Given the description of an element on the screen output the (x, y) to click on. 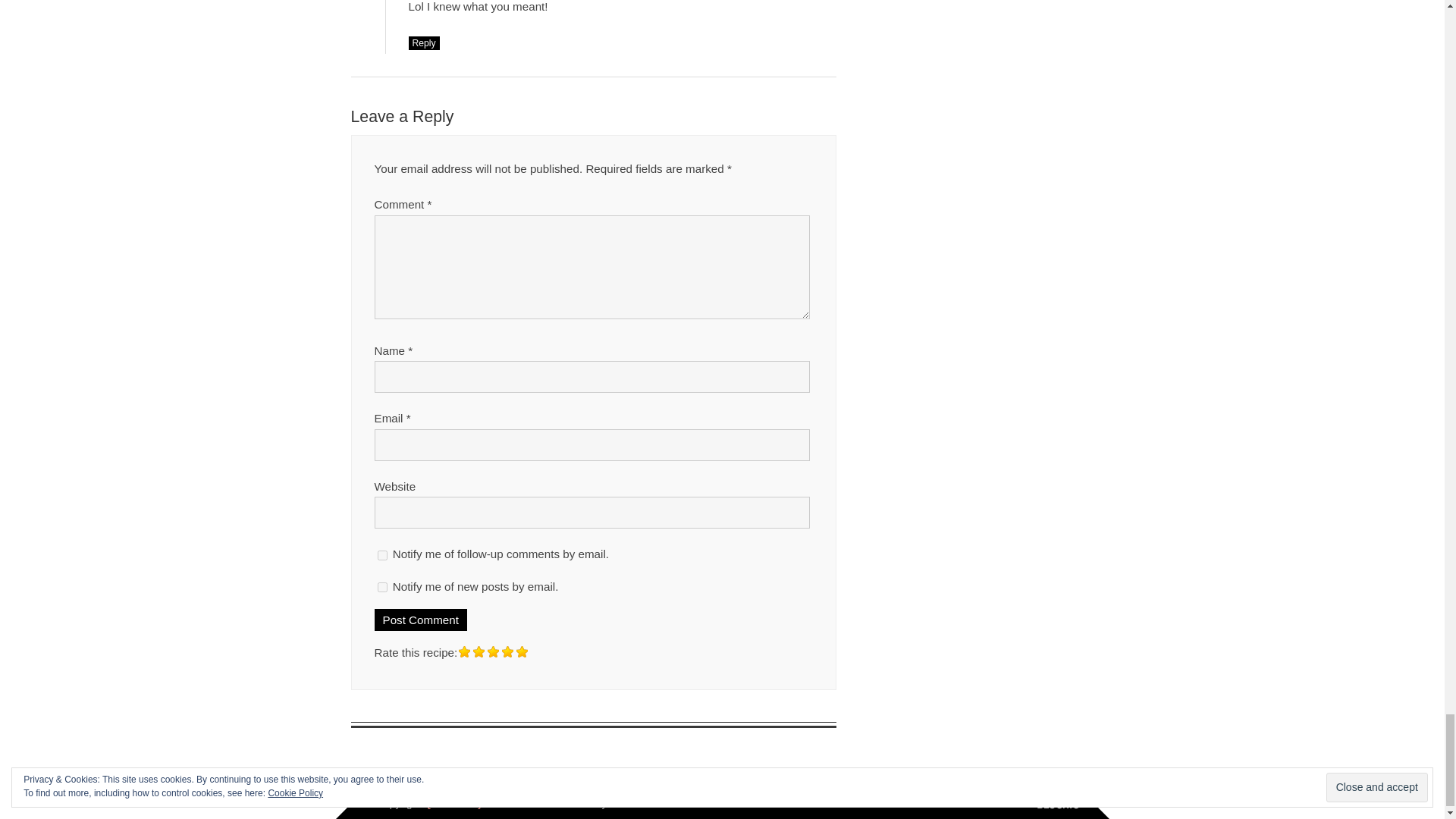
subscribe (382, 587)
subscribe (382, 555)
Post Comment (420, 619)
